Given the description of an element on the screen output the (x, y) to click on. 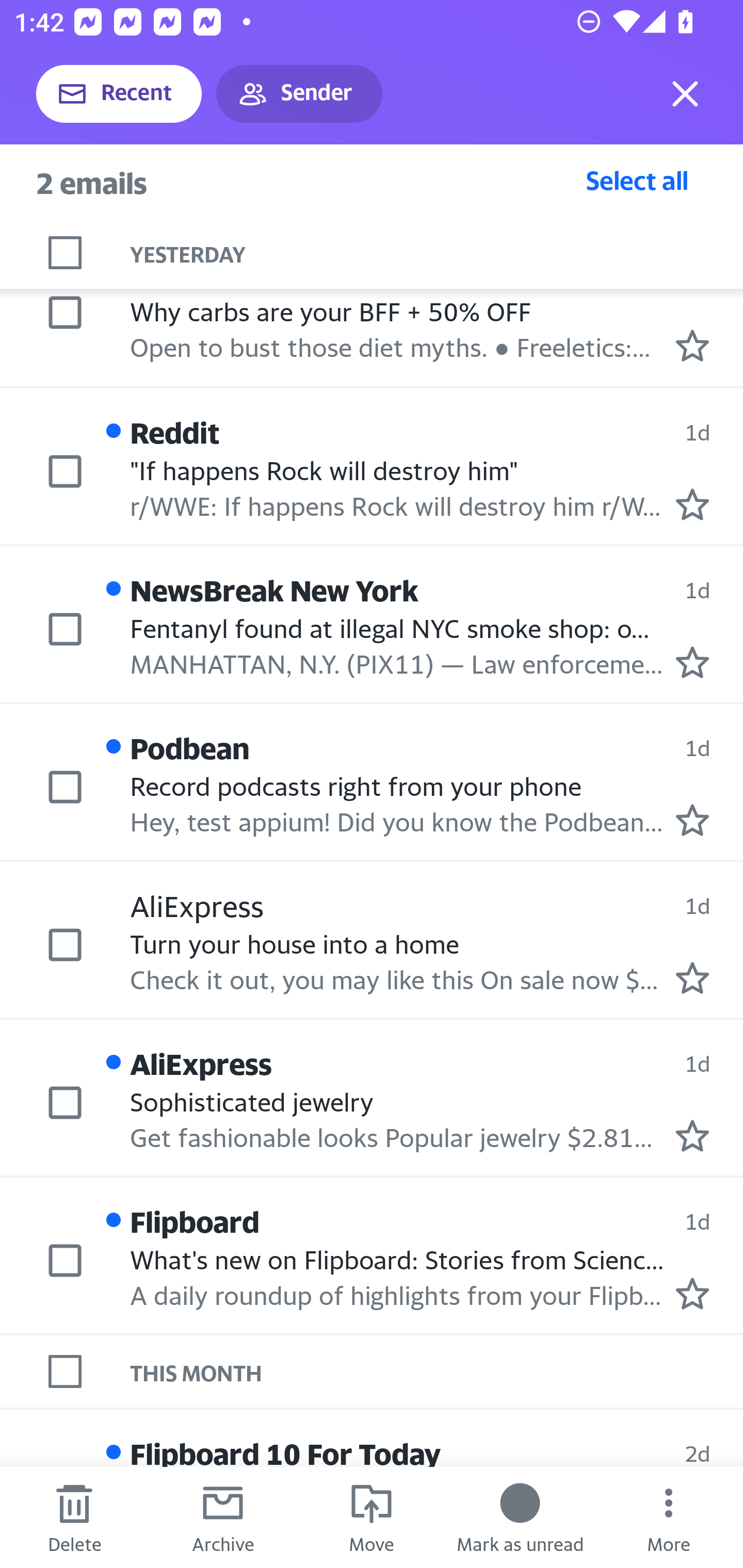
Sender (299, 93)
Exit selection mode (684, 93)
Select all (637, 180)
Mark as starred. (692, 345)
Mark as starred. (692, 504)
Mark as starred. (692, 662)
Mark as starred. (692, 820)
Mark as starred. (692, 977)
Mark as starred. (692, 1135)
Mark as starred. (692, 1293)
THIS MONTH (436, 1370)
Delete (74, 1517)
Archive (222, 1517)
Move (371, 1517)
Mark as unread (519, 1517)
More (668, 1517)
